Given the description of an element on the screen output the (x, y) to click on. 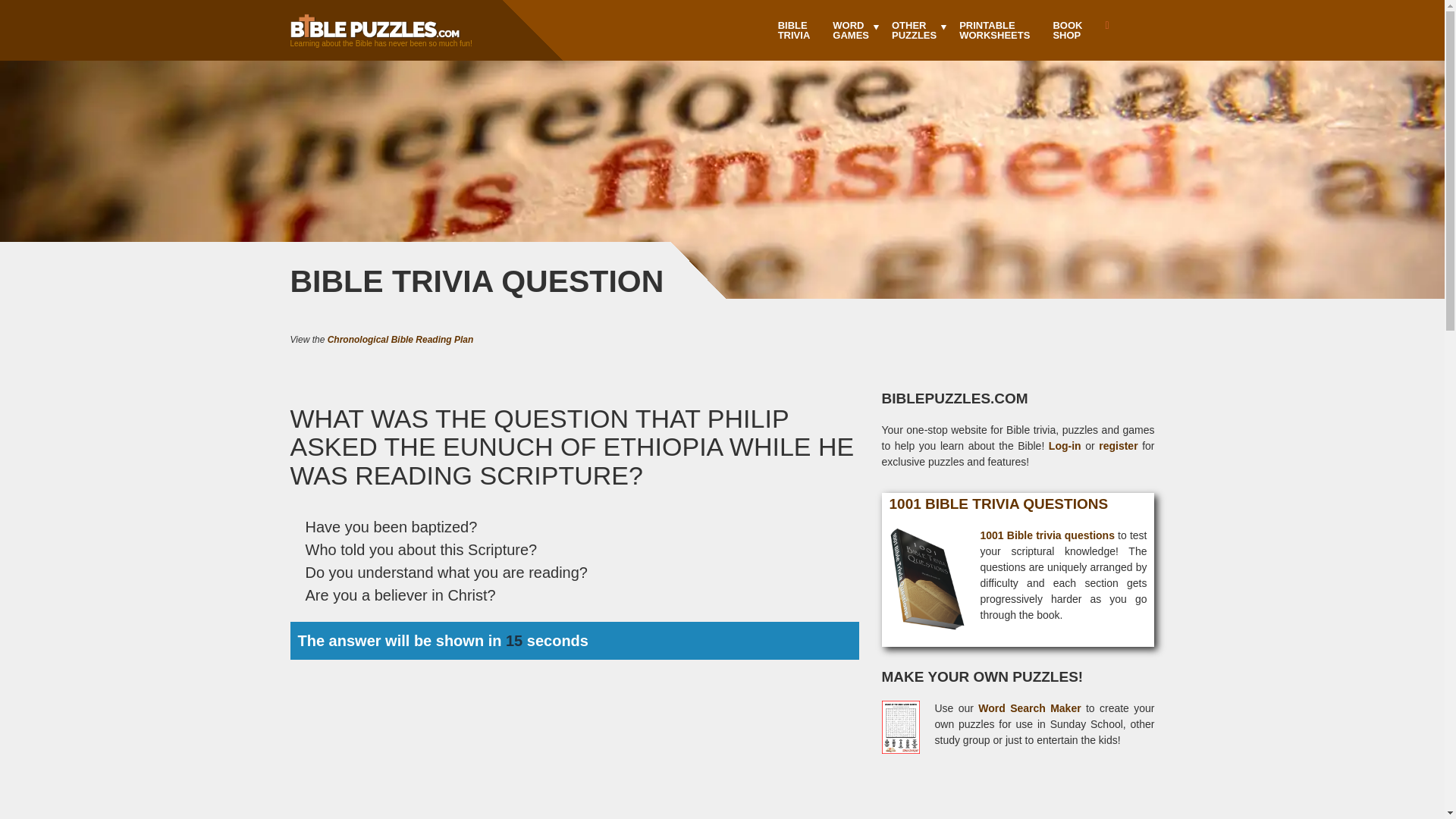
Account (1067, 30)
Chronological Bible Reading Plan (1106, 25)
1001 Bible trivia questions (400, 339)
more (850, 30)
more (1046, 535)
Advertisement (994, 30)
Log-in (913, 30)
Word Search Maker (794, 30)
1001 BIBLE TRIVIA QUESTIONS (850, 30)
Advertisement (1017, 802)
